Given the description of an element on the screen output the (x, y) to click on. 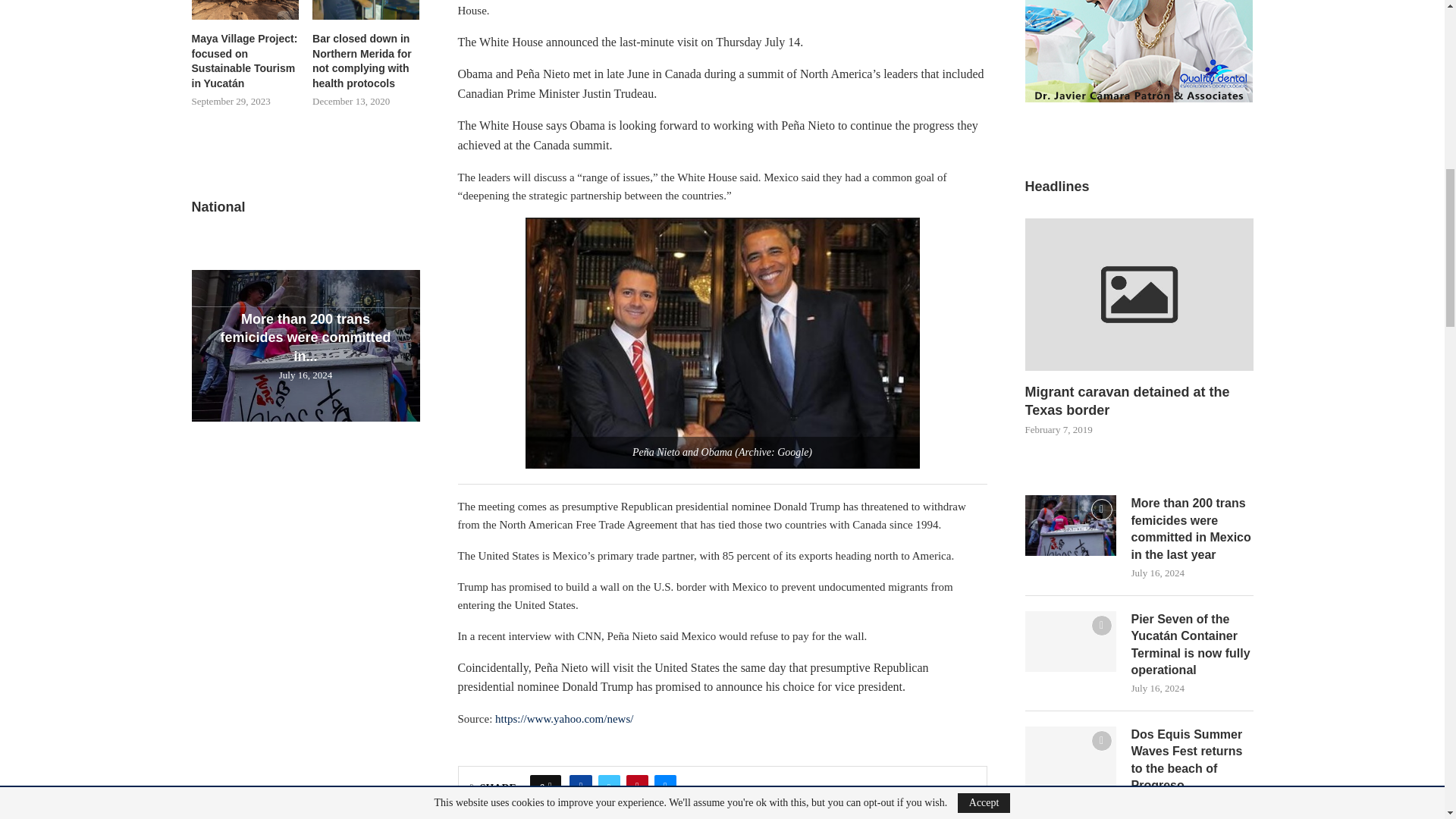
Like (549, 786)
